Given the description of an element on the screen output the (x, y) to click on. 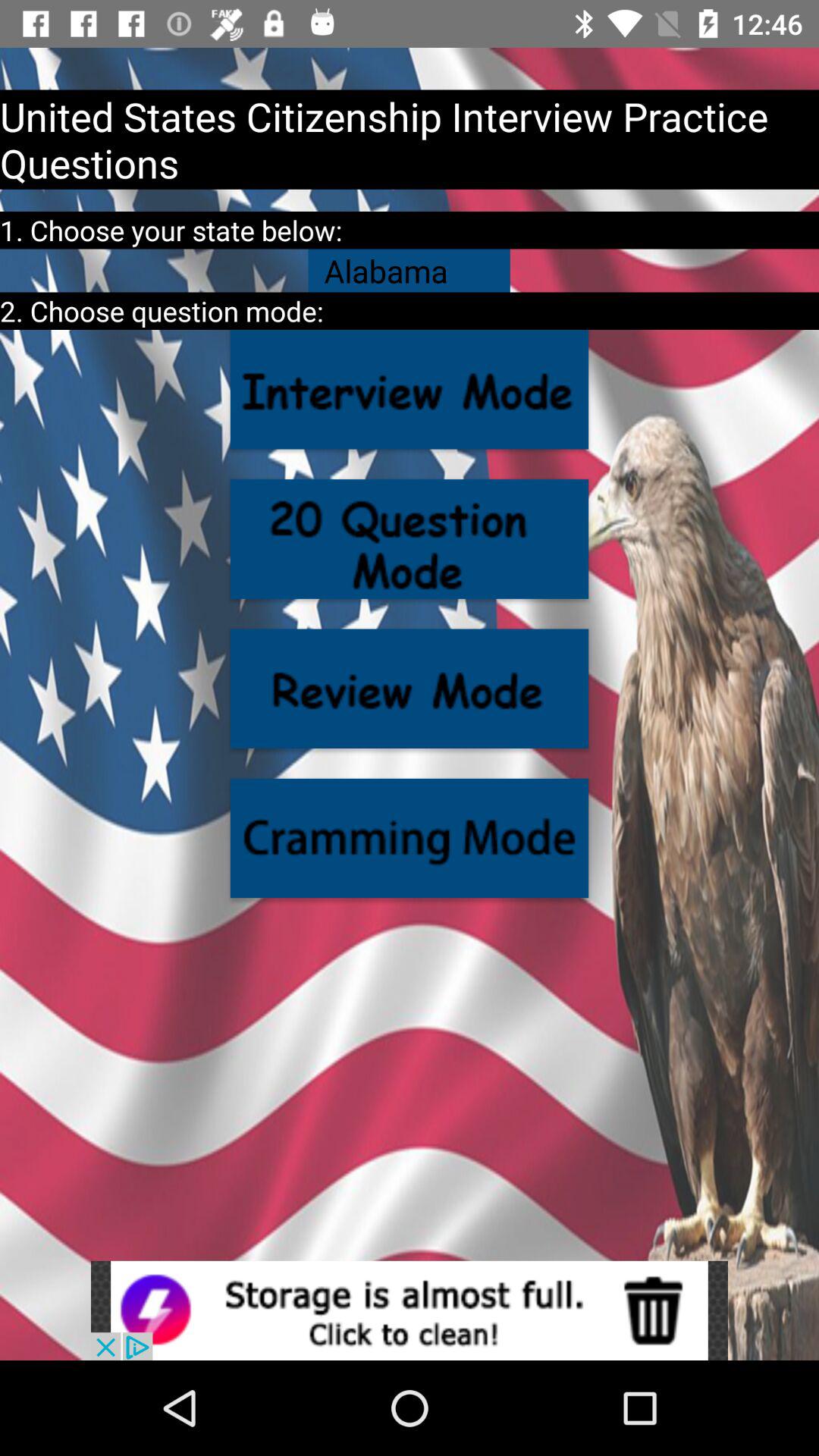
enter into the cramming mode (409, 838)
